Given the description of an element on the screen output the (x, y) to click on. 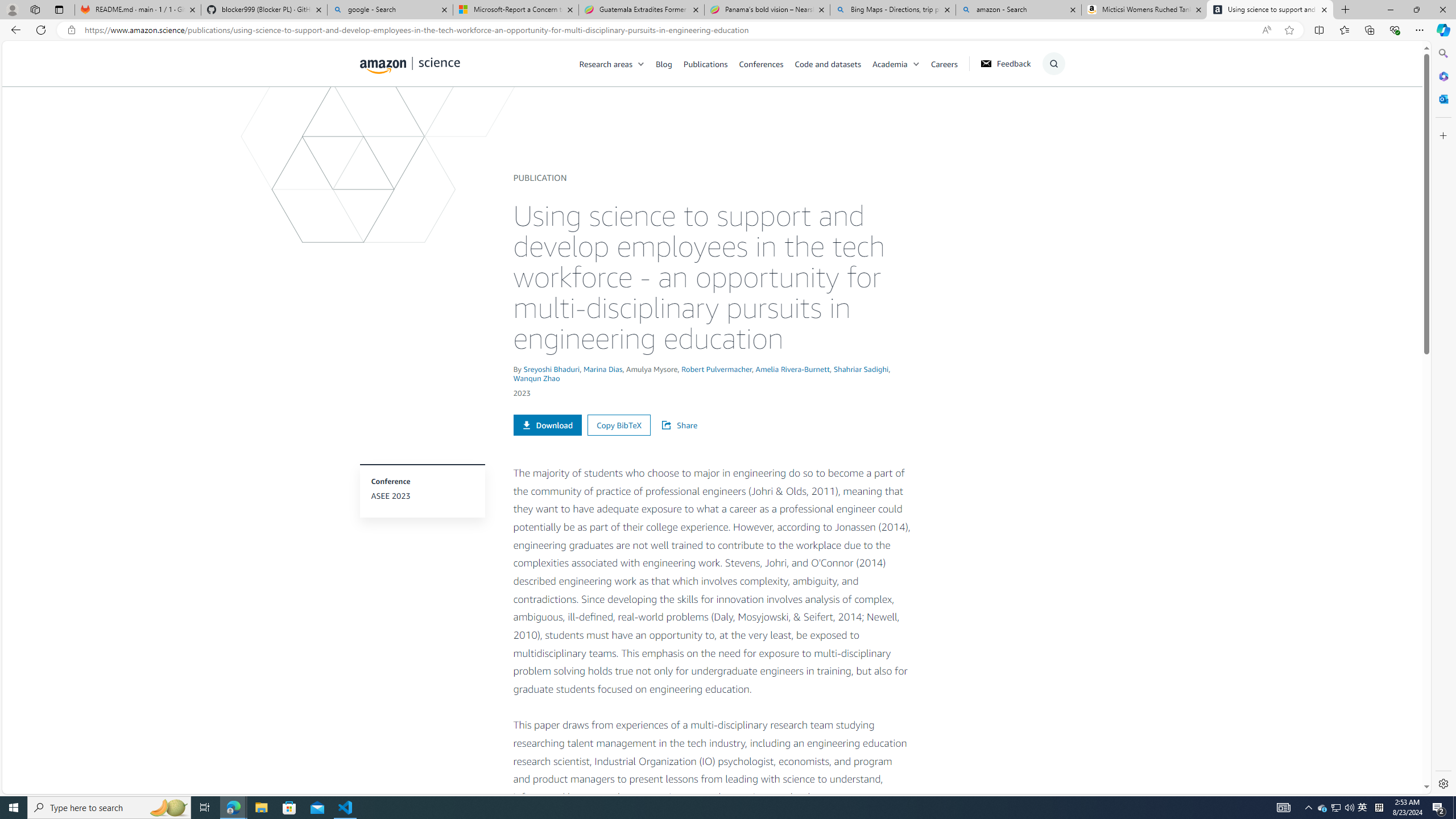
Code and datasets (827, 63)
PUBLICATION (539, 176)
google - Search (389, 9)
Submit Search (1049, 108)
Code and datasets (833, 63)
Blog (669, 63)
Publications (705, 63)
Blog (663, 63)
Research areas (606, 63)
